Given the description of an element on the screen output the (x, y) to click on. 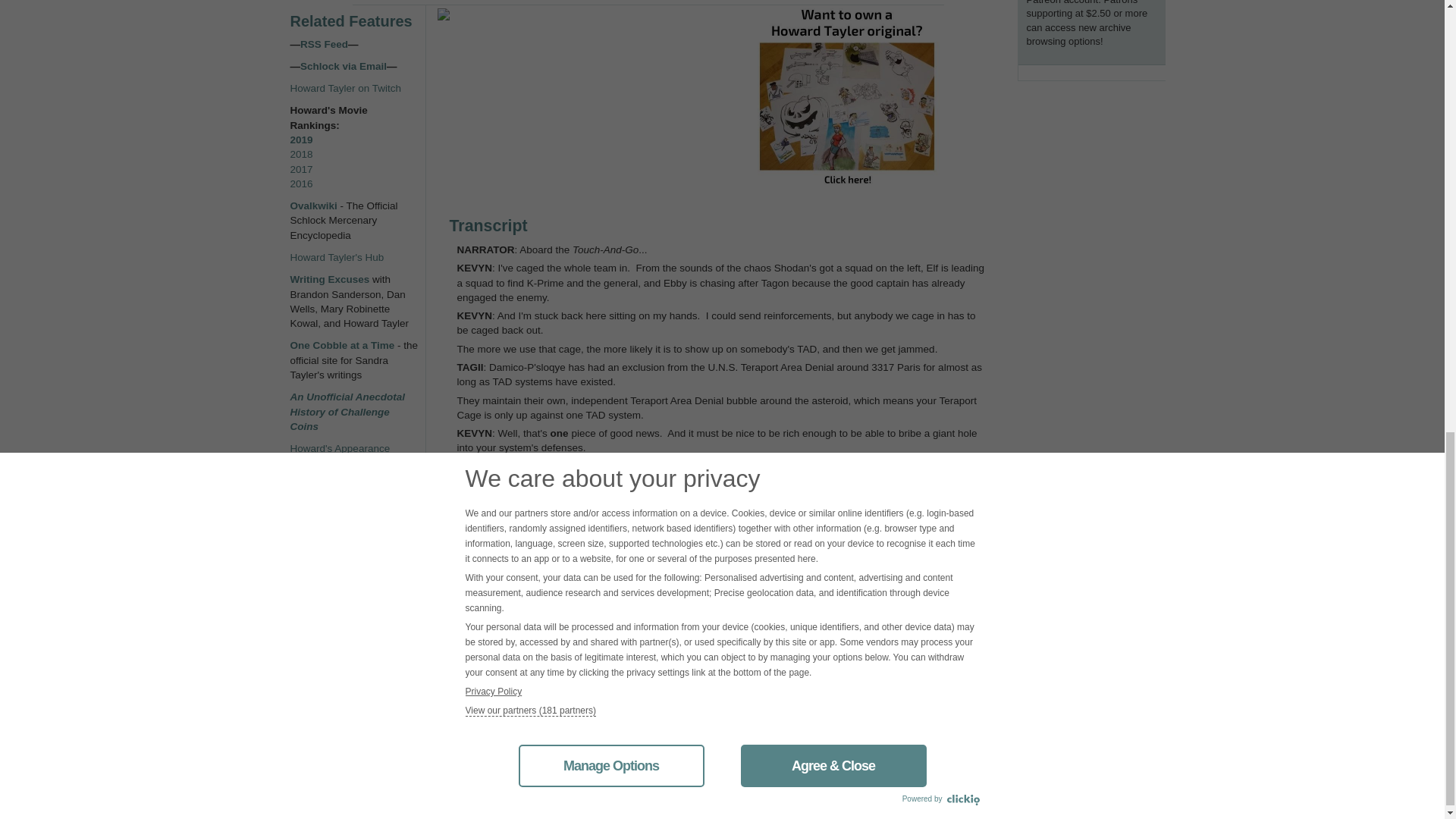
One Cobble at a Time (341, 345)
Howard Tayler on Twitch (345, 88)
2018 (301, 153)
Howard Tayler's Hub (336, 256)
Howard's Appearance Schedule (339, 455)
Ovalkwiki  (314, 205)
RSS Feed (323, 43)
Privacy settings (325, 521)
2019 (301, 139)
Howard Tayler on Twitch (345, 88)
An Unofficial Anecdotal History of Challenge Coins (346, 411)
Writing Excuses (329, 279)
Schlock via Email (343, 66)
Schlock Mercenary Discussion (333, 492)
Ovalkwiki (314, 205)
